Given the description of an element on the screen output the (x, y) to click on. 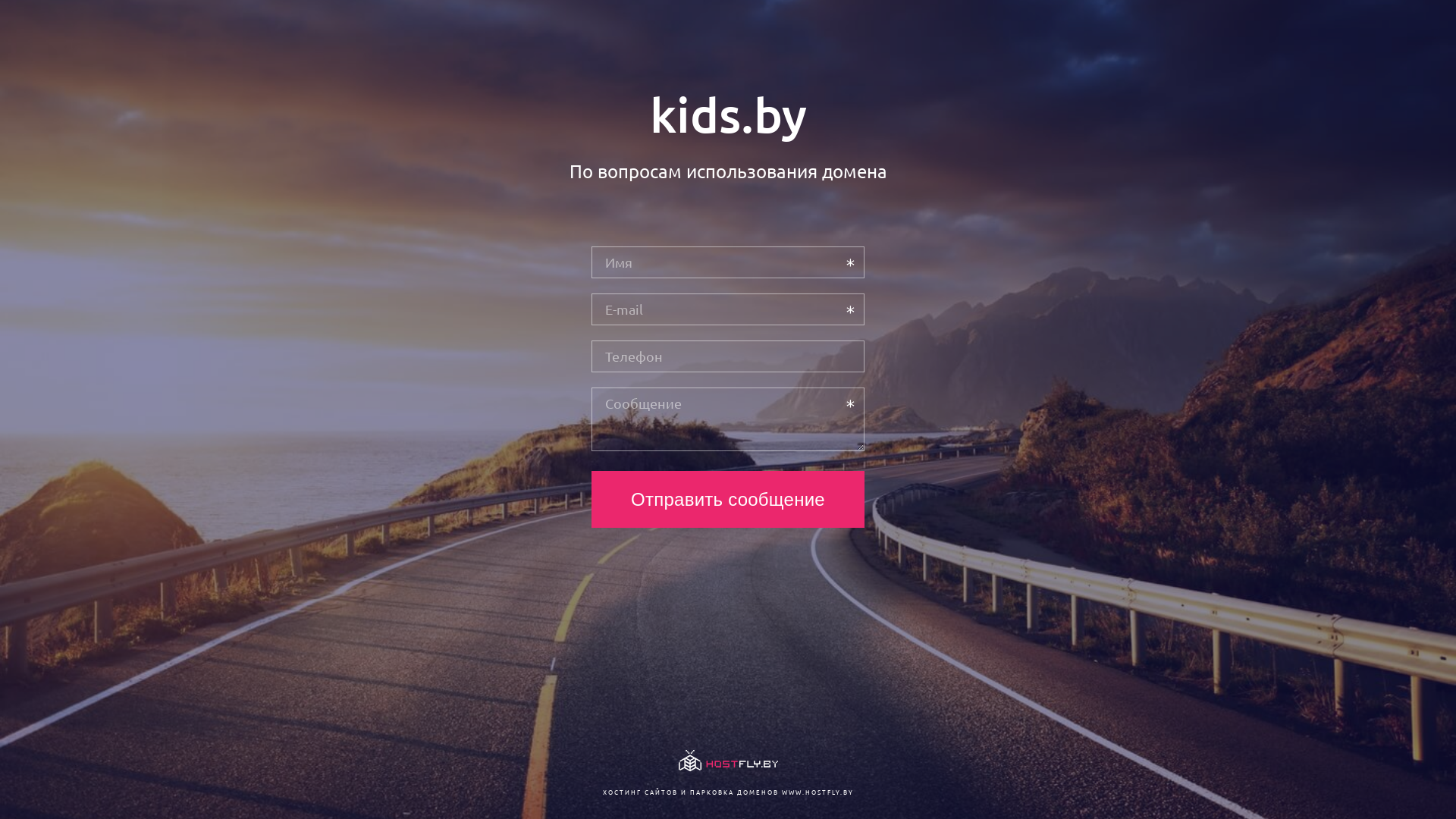
WWW.HOSTFLY.BY Element type: text (817, 791)
